Given the description of an element on the screen output the (x, y) to click on. 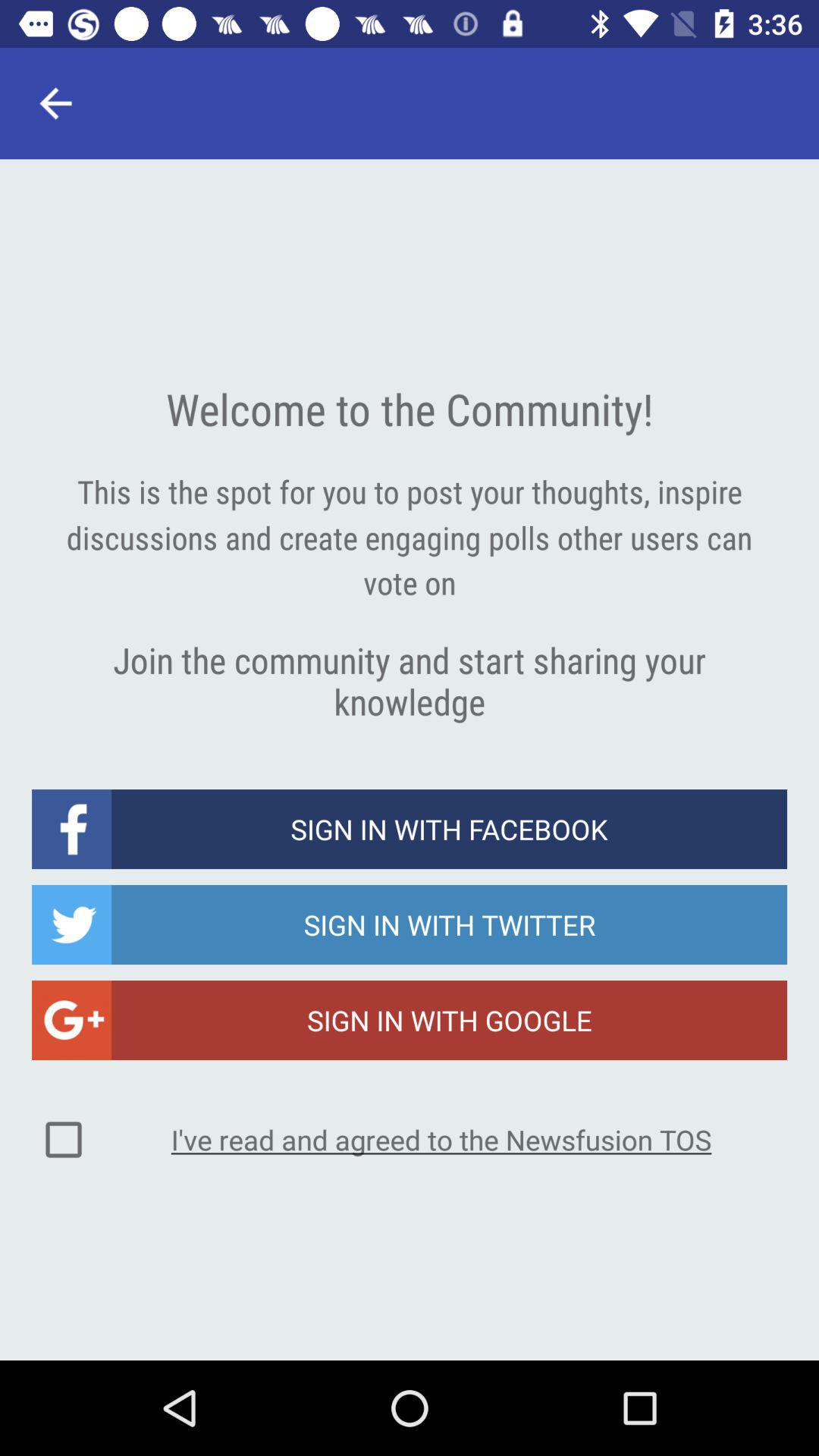
open the item at the top left corner (55, 103)
